Given the description of an element on the screen output the (x, y) to click on. 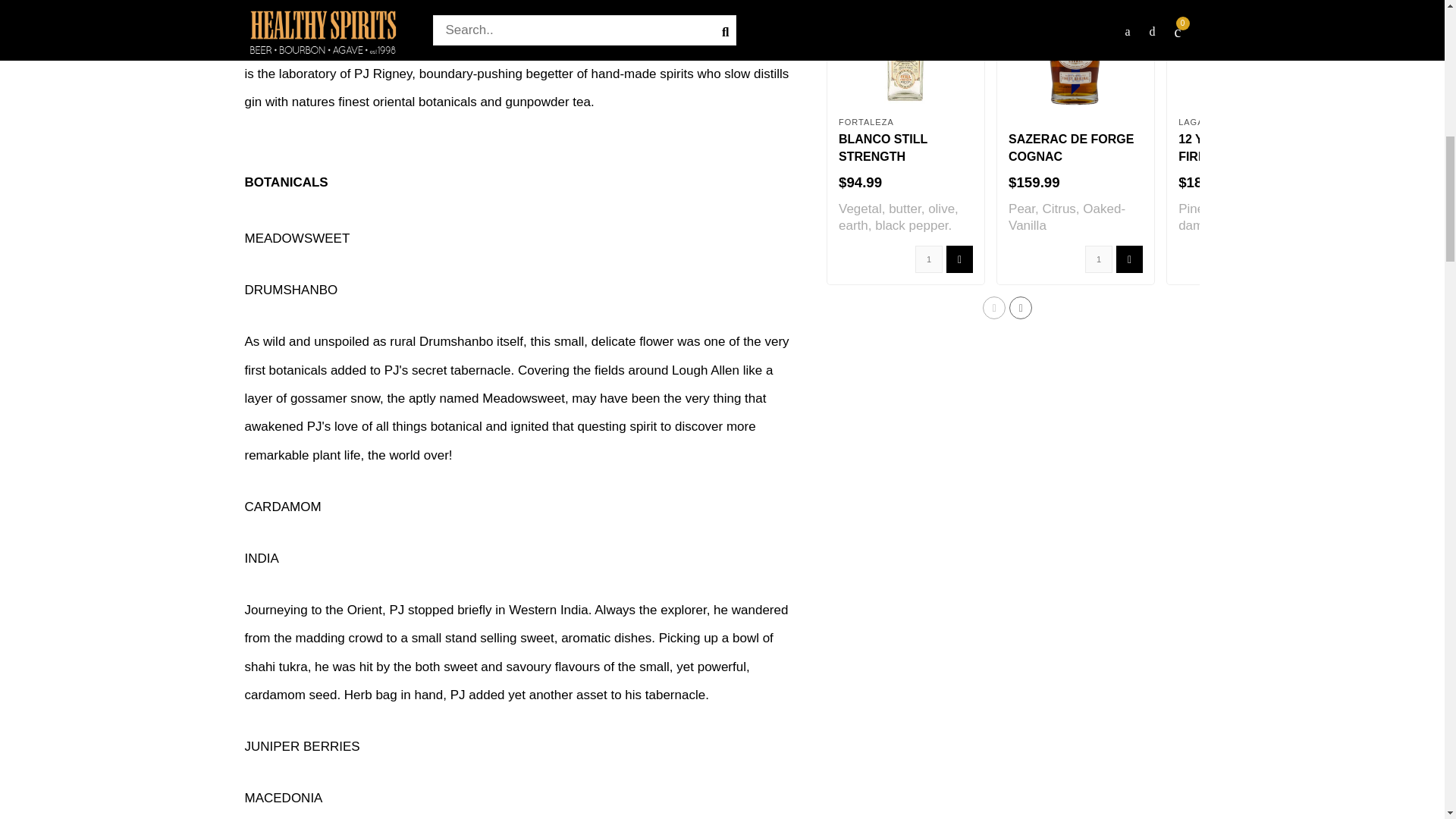
1 (1098, 258)
1 (928, 258)
